Given the description of an element on the screen output the (x, y) to click on. 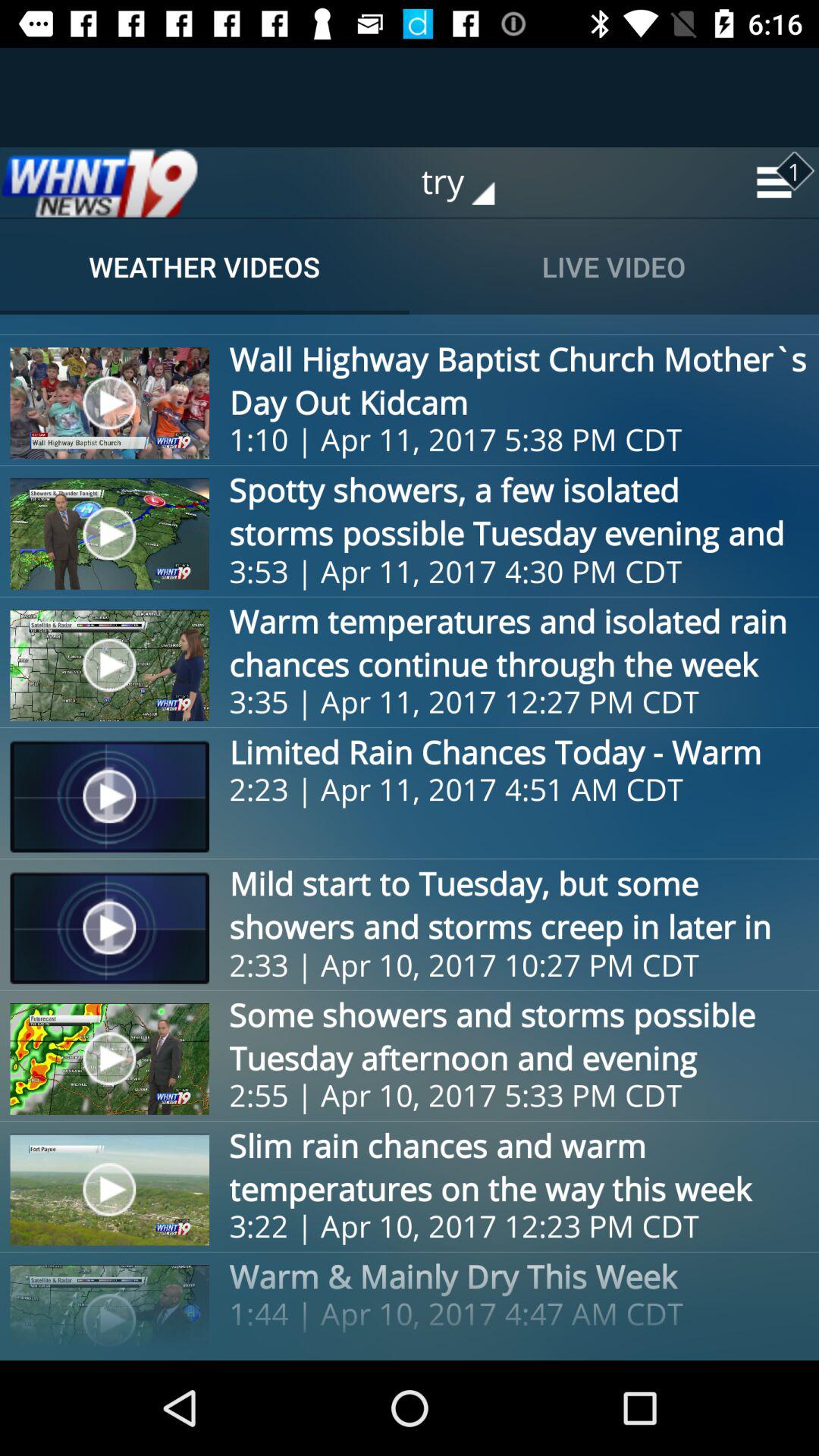
click icon next to the try (99, 182)
